Given the description of an element on the screen output the (x, y) to click on. 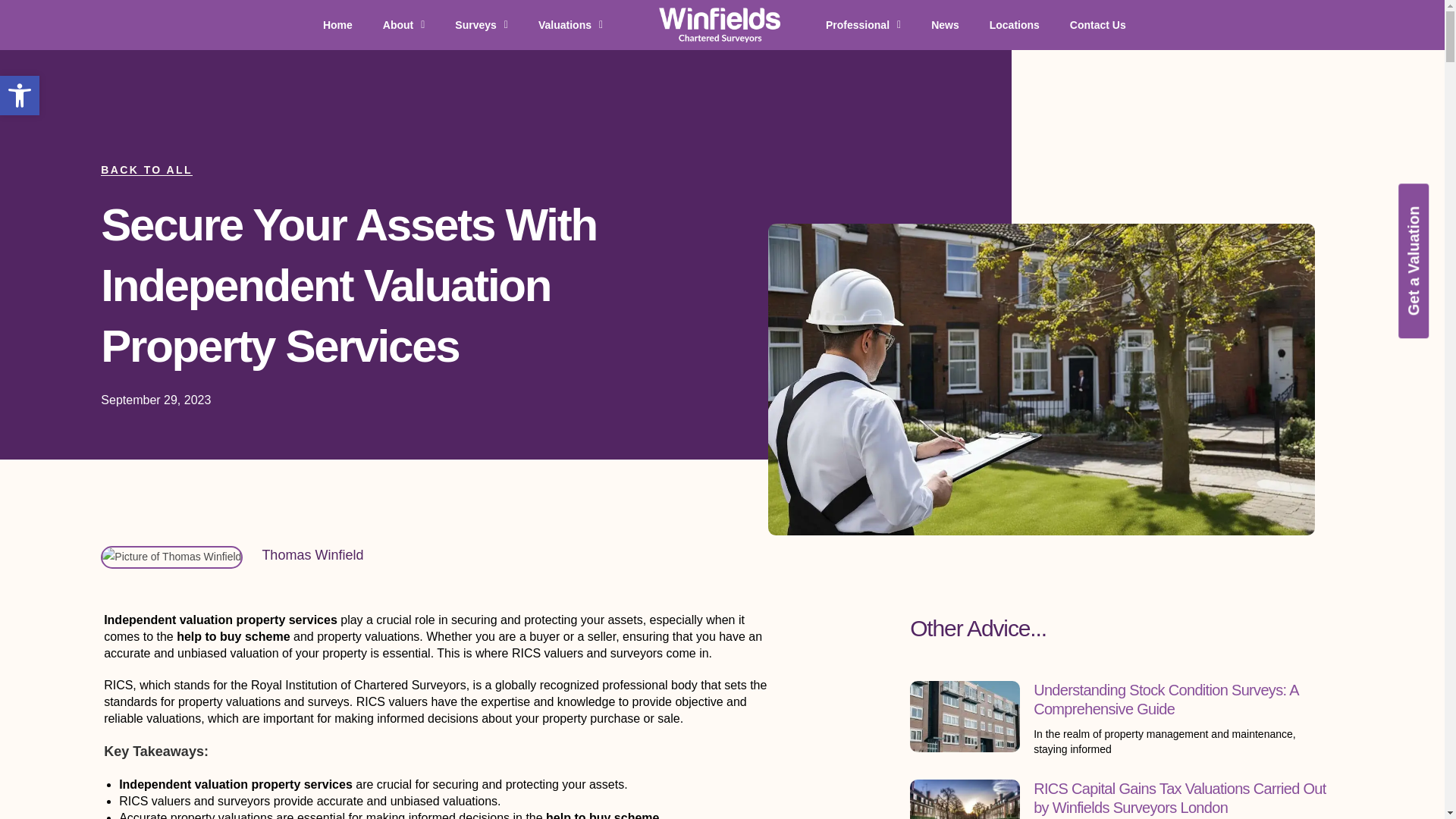
Valuations (569, 24)
About (404, 24)
Surveys (480, 24)
Home (337, 24)
Accessibility Tools (19, 95)
Accessibility Tools (19, 95)
